Given the description of an element on the screen output the (x, y) to click on. 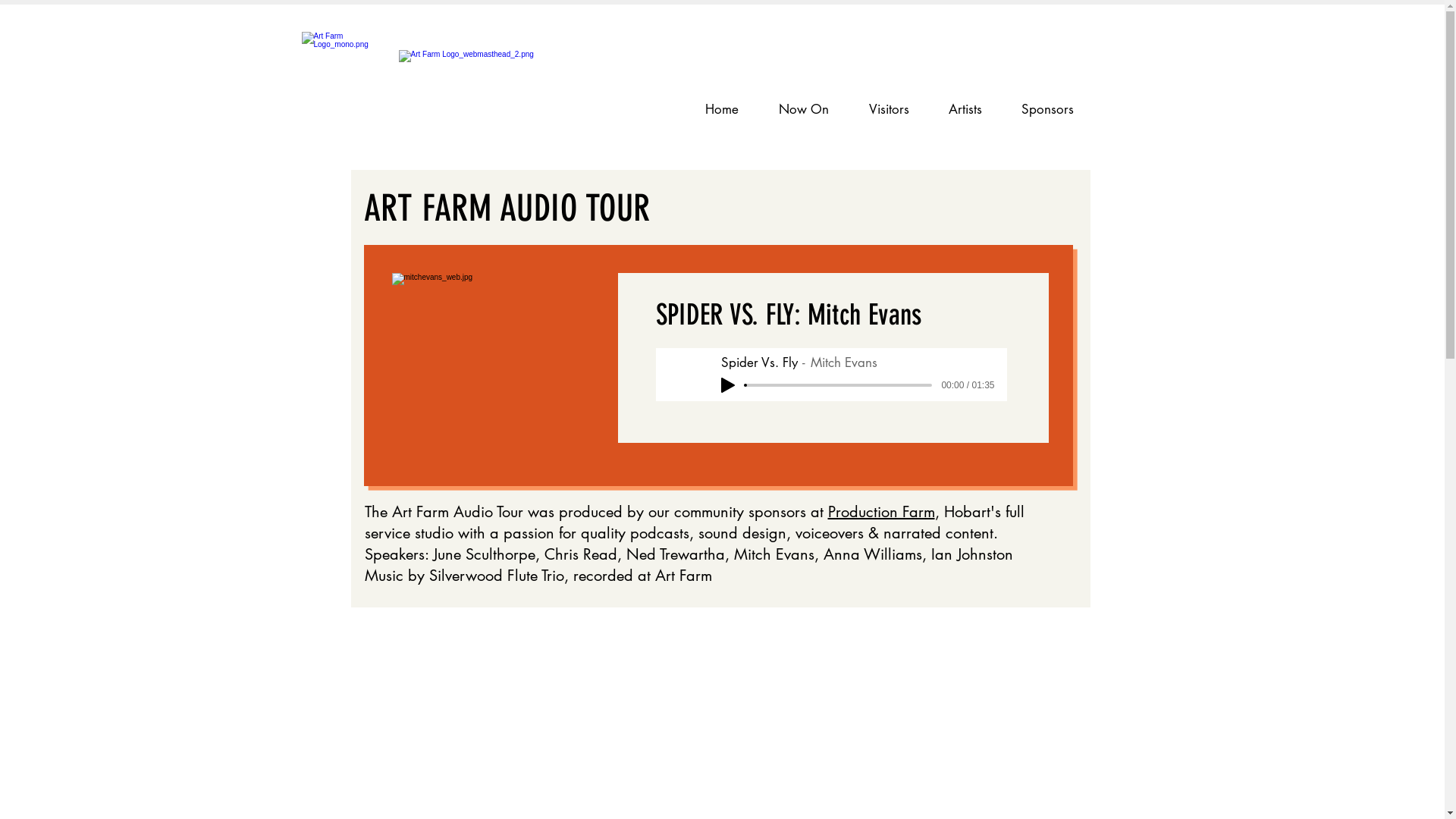
Production Farm Element type: text (881, 511)
Home Element type: text (722, 109)
Visitors Element type: text (888, 109)
Sponsors Element type: text (1046, 109)
Now On Element type: text (803, 109)
Artists Element type: text (964, 109)
